Given the description of an element on the screen output the (x, y) to click on. 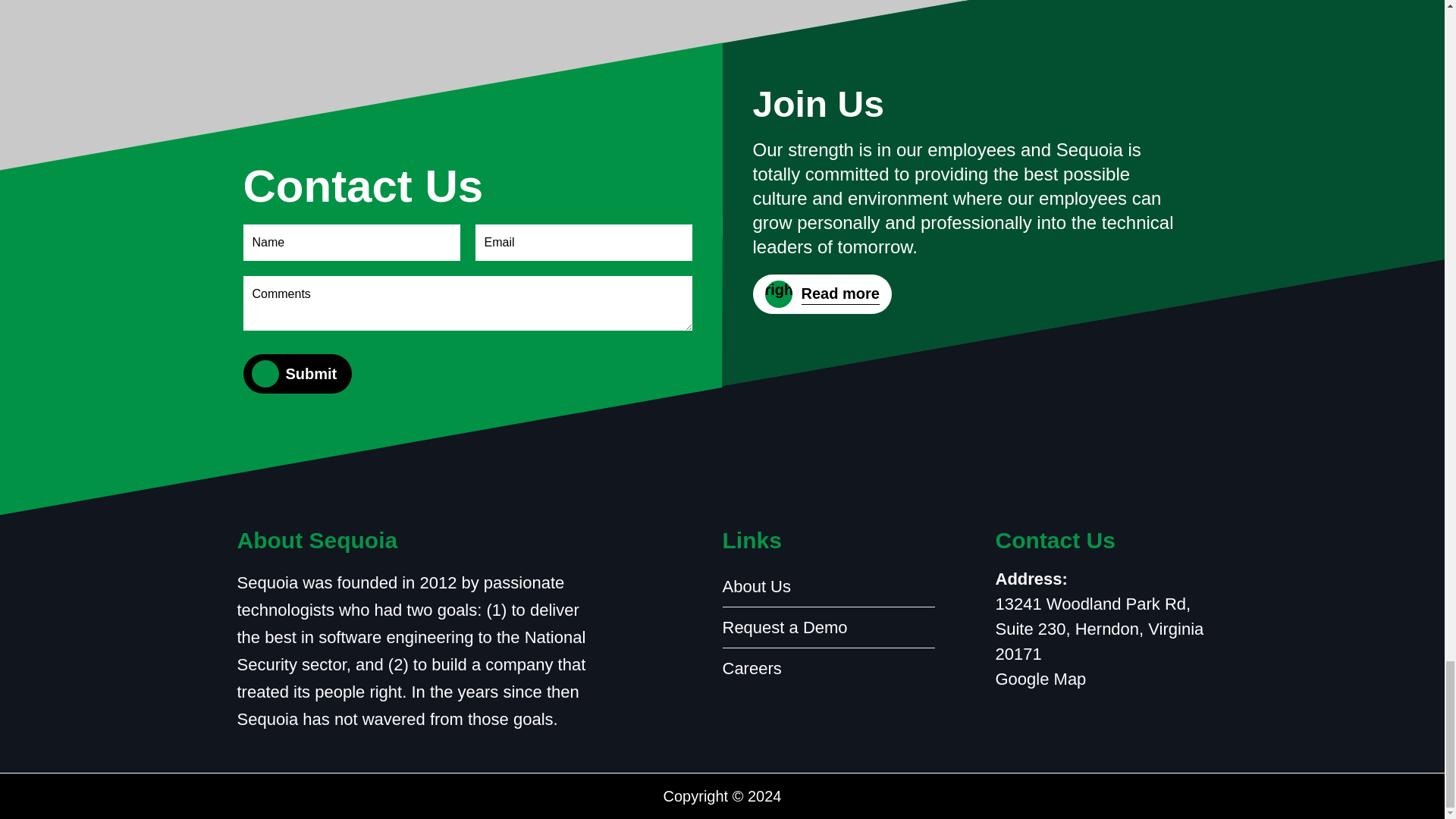
Submit (310, 373)
Read more (821, 293)
Submit (310, 373)
